Given the description of an element on the screen output the (x, y) to click on. 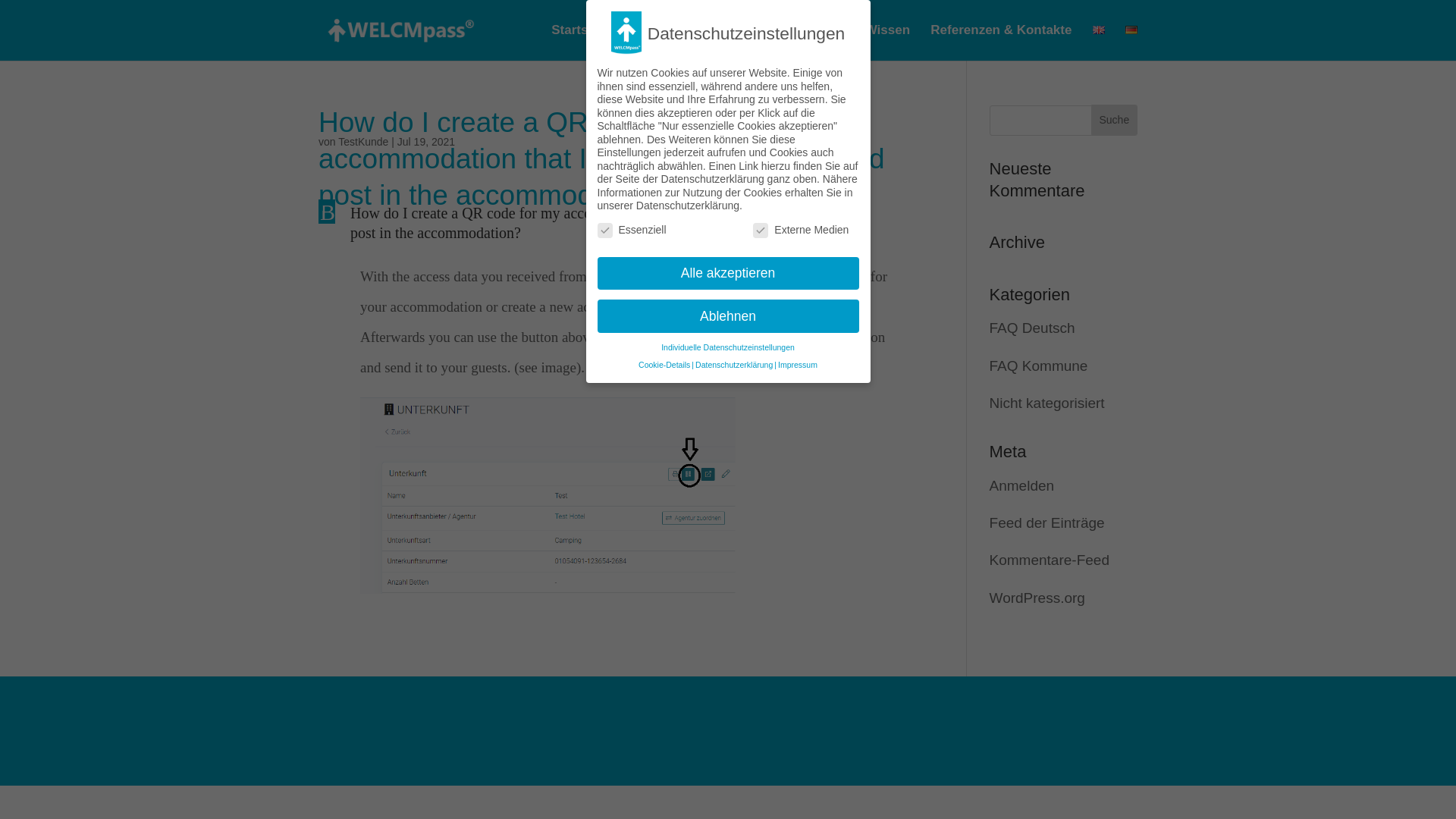
Leistungen (759, 42)
Kommentare-Feed (1049, 560)
Nicht kategorisiert (1047, 402)
Impressum (796, 364)
FAQ Kommune (1038, 365)
Cookie-Details (664, 364)
Suche (1113, 119)
TestKunde (362, 141)
Individuelle Datenschutzeinstellungen (727, 347)
Startseite (580, 42)
